Given the description of an element on the screen output the (x, y) to click on. 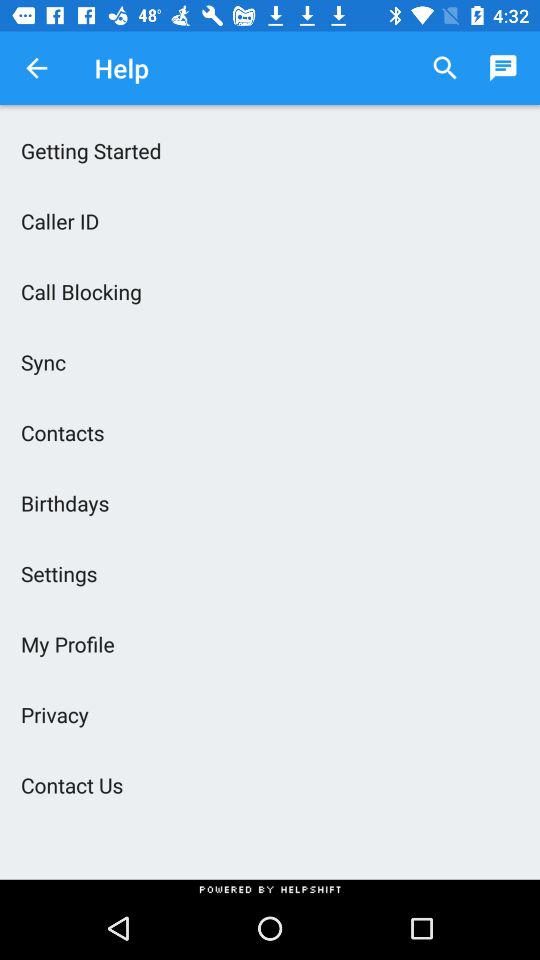
turn off item above the sync (270, 291)
